Given the description of an element on the screen output the (x, y) to click on. 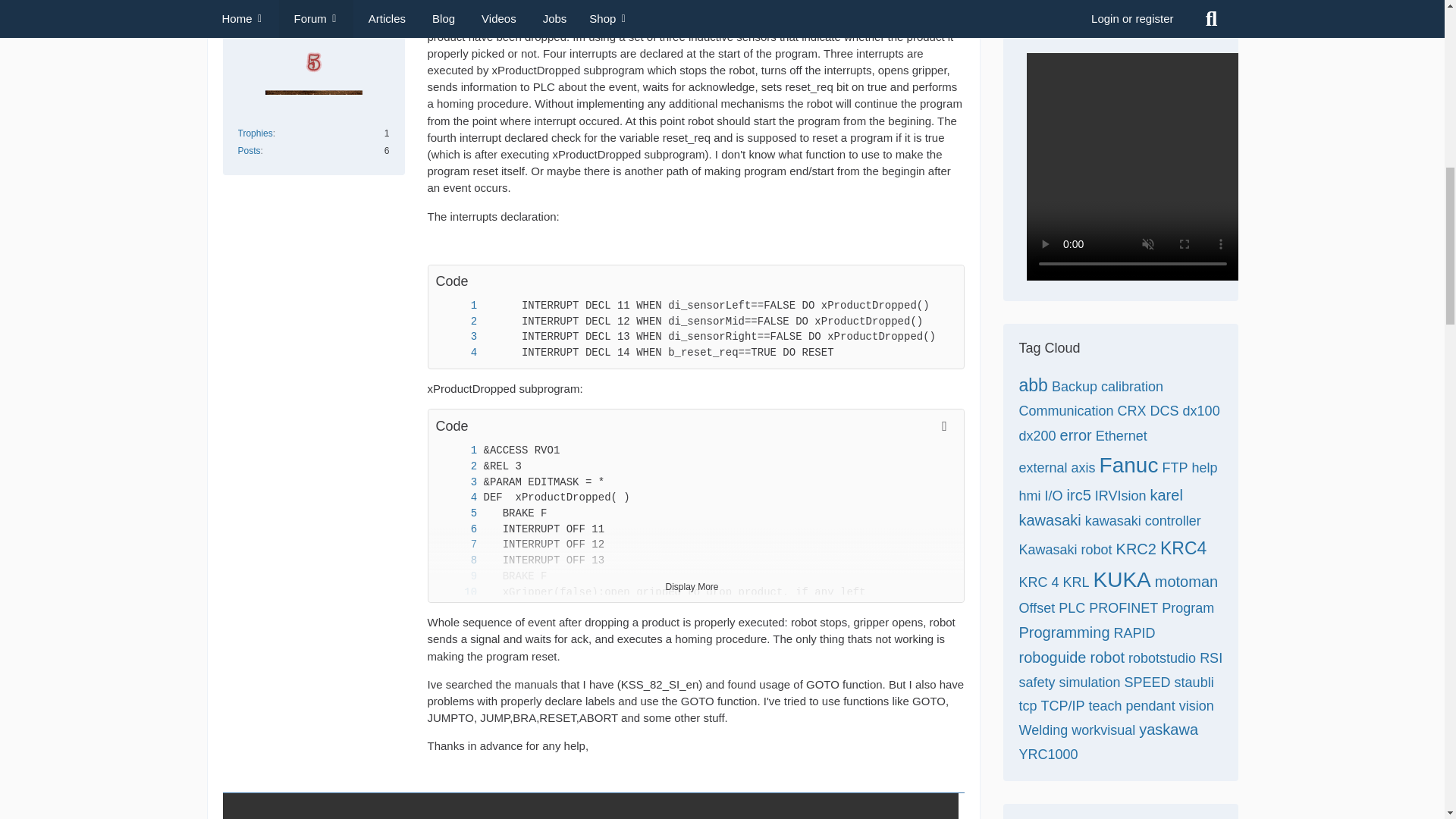
7 (458, 544)
4 (458, 352)
10 (458, 592)
4 (458, 497)
6 (458, 529)
1 (458, 305)
8 (458, 560)
2 (458, 321)
1 (458, 450)
2 (458, 466)
3 (458, 336)
9 (458, 576)
3 (458, 482)
5 (458, 513)
